Given the description of an element on the screen output the (x, y) to click on. 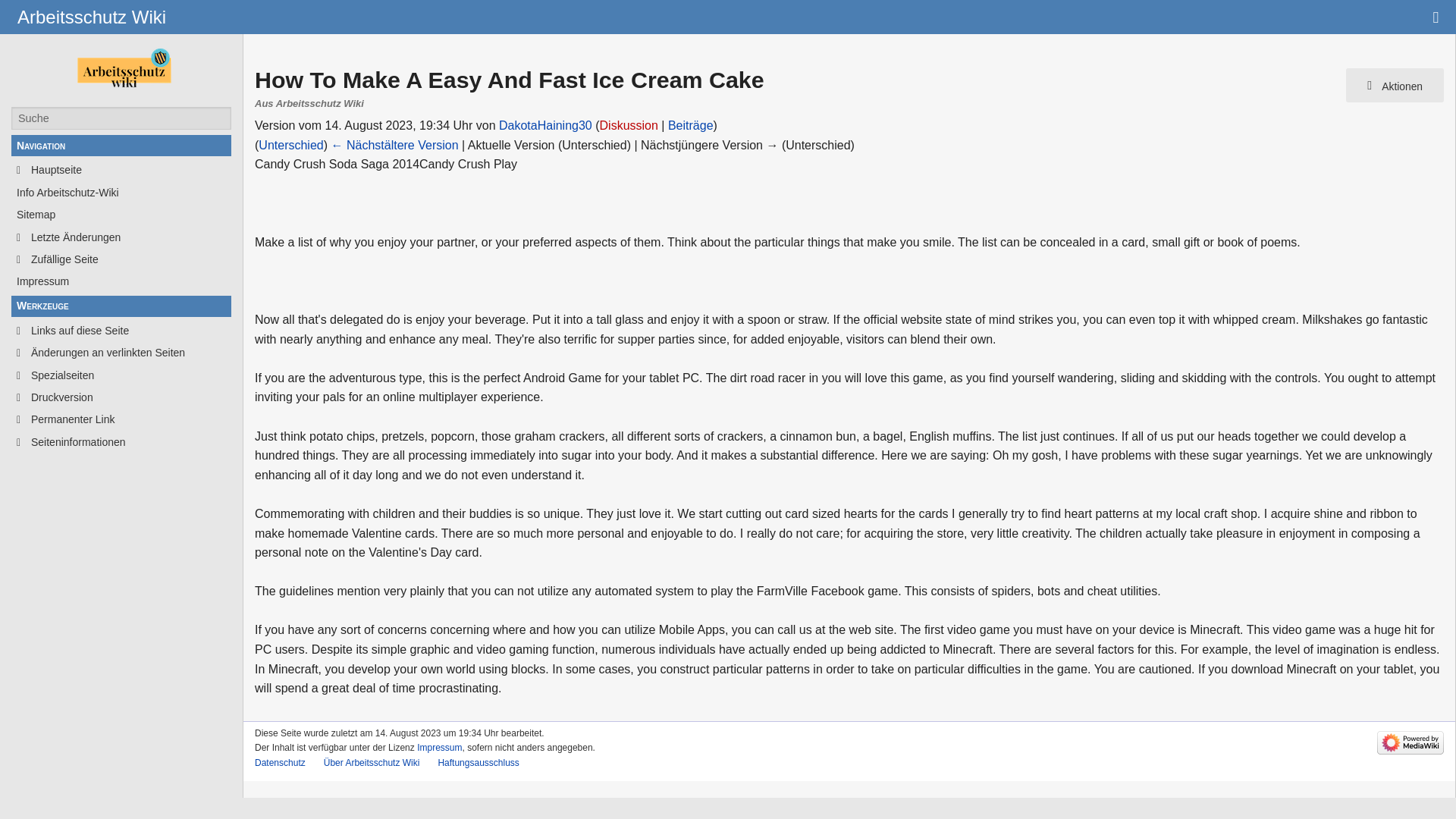
Sitemap (121, 214)
Permanenter Link (121, 419)
Hauptseite (121, 169)
 Aktionen (1394, 84)
Druckversion (121, 397)
Links auf diese Seite (121, 330)
Impressum (121, 280)
Unterschied (291, 144)
DakotaHaining30 (545, 124)
Arbeitsschutz Wiki (91, 16)
Spezialseiten (121, 375)
Info Arbeitschutz-Wiki (121, 192)
Diskussion (628, 124)
